Given the description of an element on the screen output the (x, y) to click on. 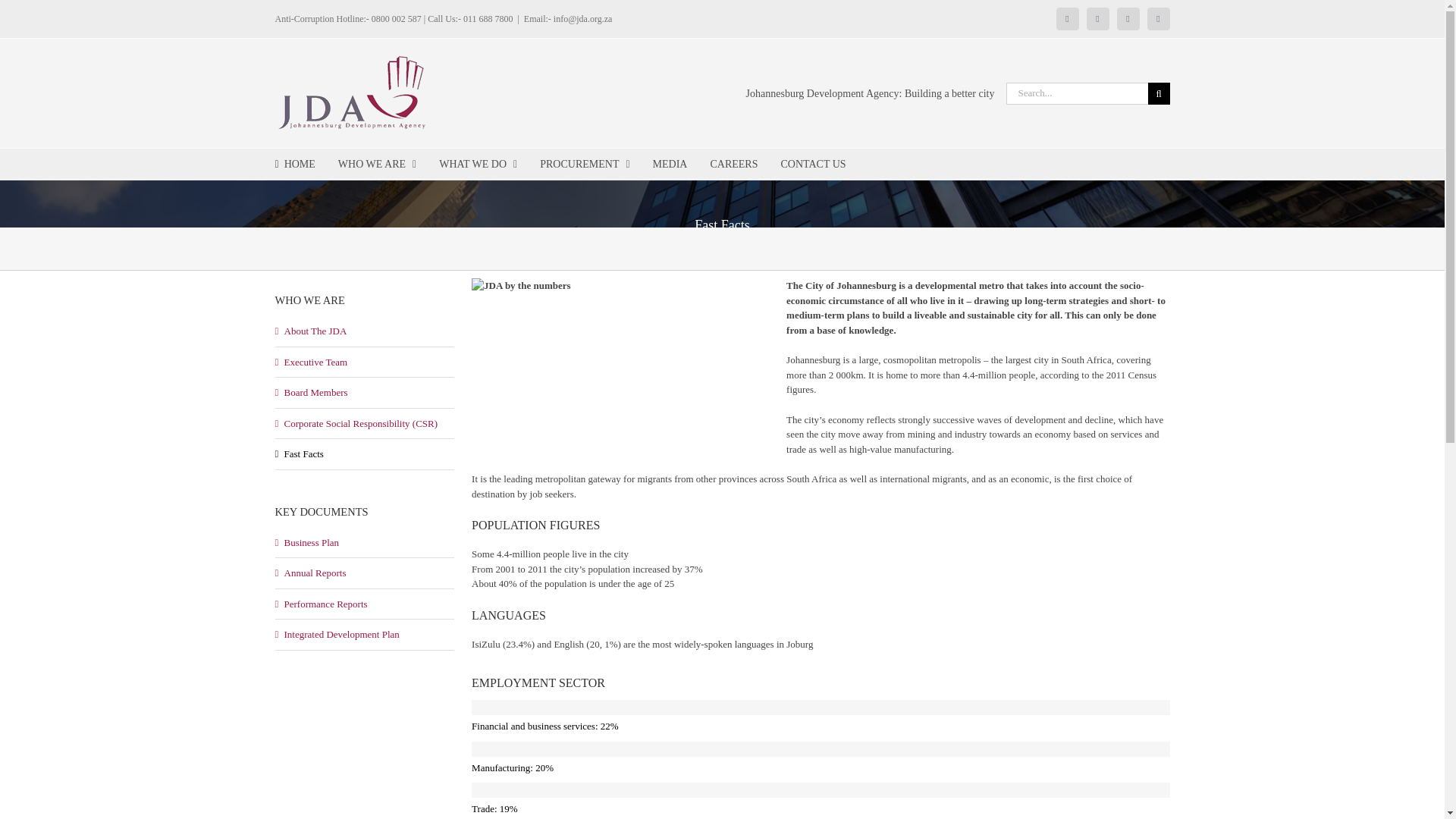
Facebook (1067, 18)
YouTube (1158, 18)
Instagram (1128, 18)
YouTube (1158, 18)
HOME (294, 163)
WHO WE ARE (376, 163)
Twitter (1097, 18)
WHAT WE DO (477, 163)
PROCUREMENT (584, 163)
Facebook (1067, 18)
